Given the description of an element on the screen output the (x, y) to click on. 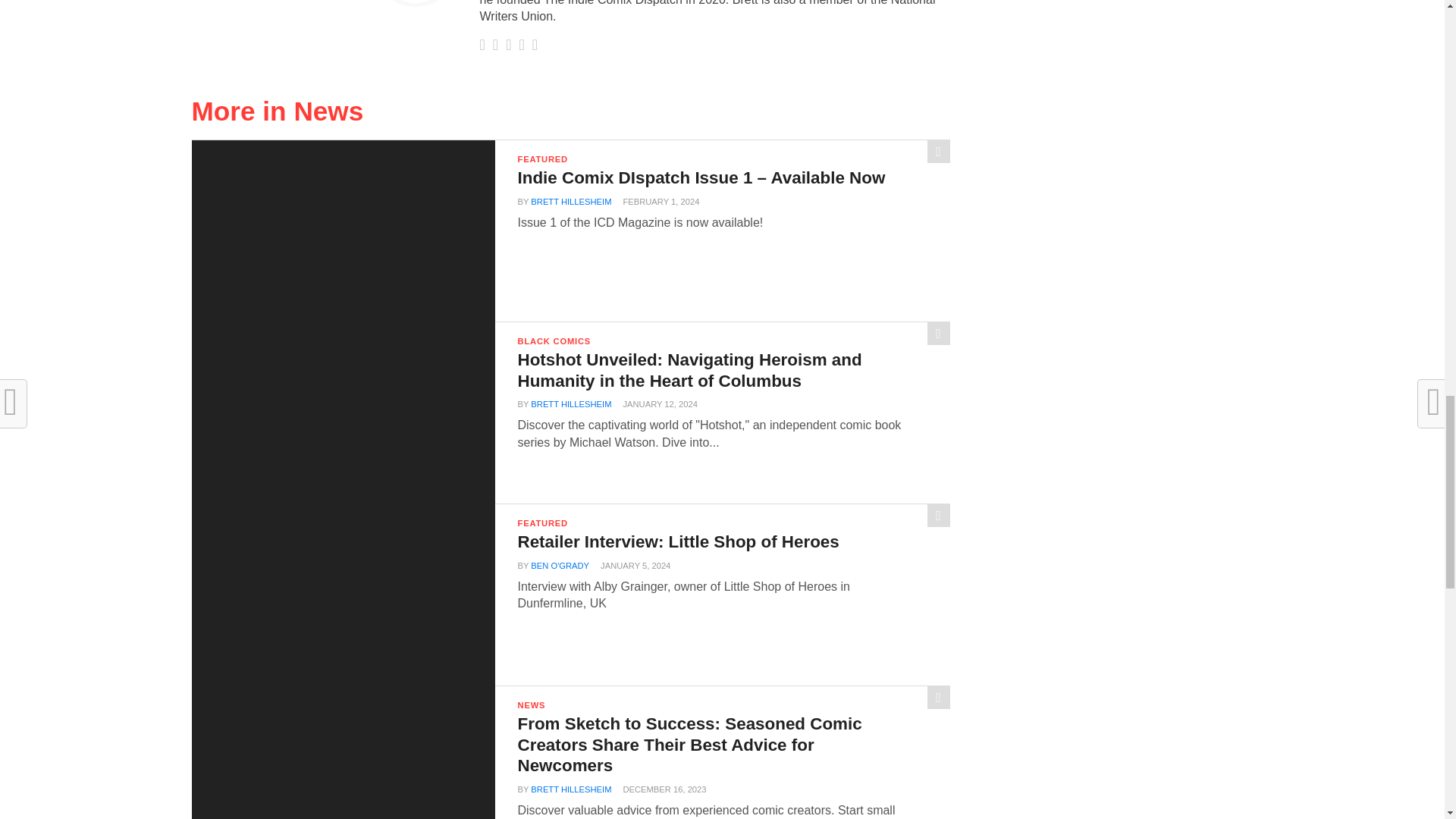
Posts by Brett Hillesheim (571, 403)
Posts by Brett Hillesheim (571, 201)
